Given the description of an element on the screen output the (x, y) to click on. 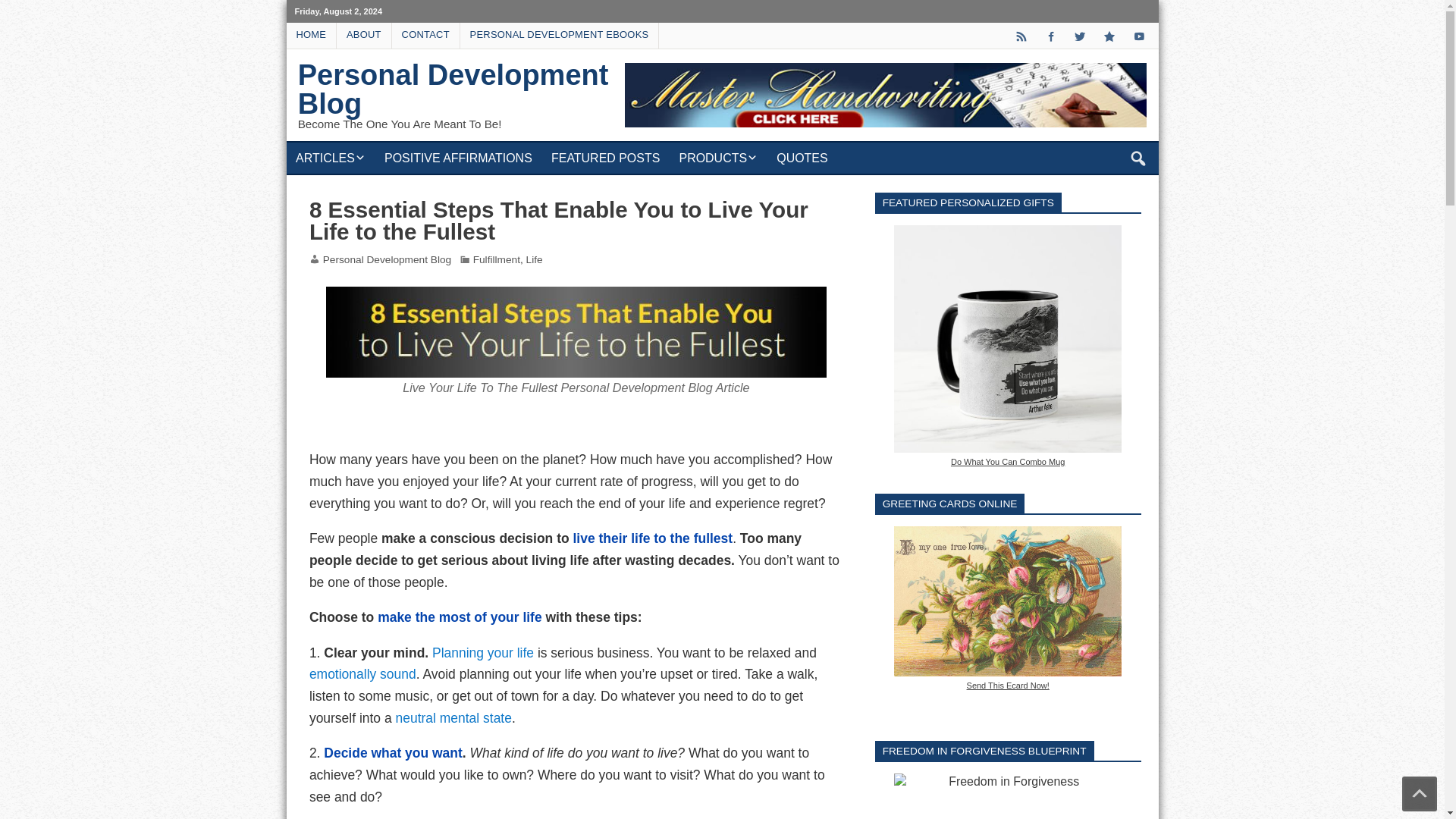
Discover Your Life Purpose Ebook (392, 752)
Emotional Intelligence Ebook (454, 717)
Be The Master Of Your Day Ebook (483, 652)
Live the Best Year Of Your Life Ebook (459, 616)
Emotional Intelligence Ebook (362, 673)
Live the Best Year Of Your Life Ebook (652, 538)
CONTACT (425, 35)
PERSONAL DEVELOPMENT EBOOKS (559, 35)
ABOUT (363, 35)
View all posts by Personal Development Blog (387, 259)
HOME (311, 35)
ARTICLES (330, 157)
